Given the description of an element on the screen output the (x, y) to click on. 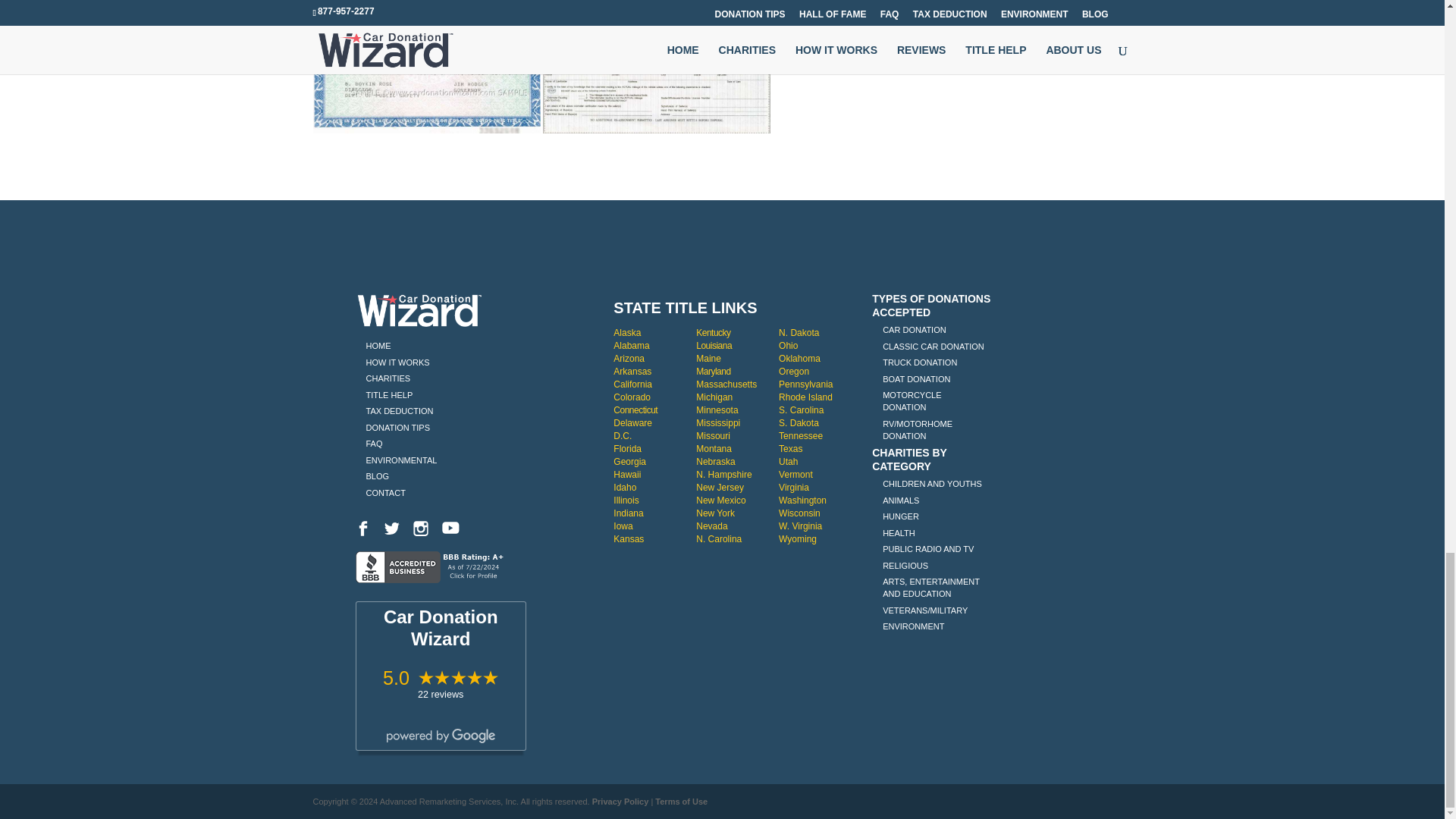
Delaware Title Instructions (632, 422)
Hawaii Title Instructions (626, 474)
Georgia Title Instructions (629, 461)
Alabama Title Instructions (630, 345)
Colorado Title Instructions (631, 397)
Arizona Title Instructions (628, 357)
Arkansas Title Instructions (631, 371)
Alaska Title Instructions (626, 332)
Connecticut Title Instructions (635, 409)
Delaware Title Instructions (621, 435)
California Title Instructions (632, 384)
Idaho Title Instructions (624, 487)
Indiana Title Instructions (627, 512)
Powered by Google (441, 735)
Florida Title Instructions (627, 448)
